Given the description of an element on the screen output the (x, y) to click on. 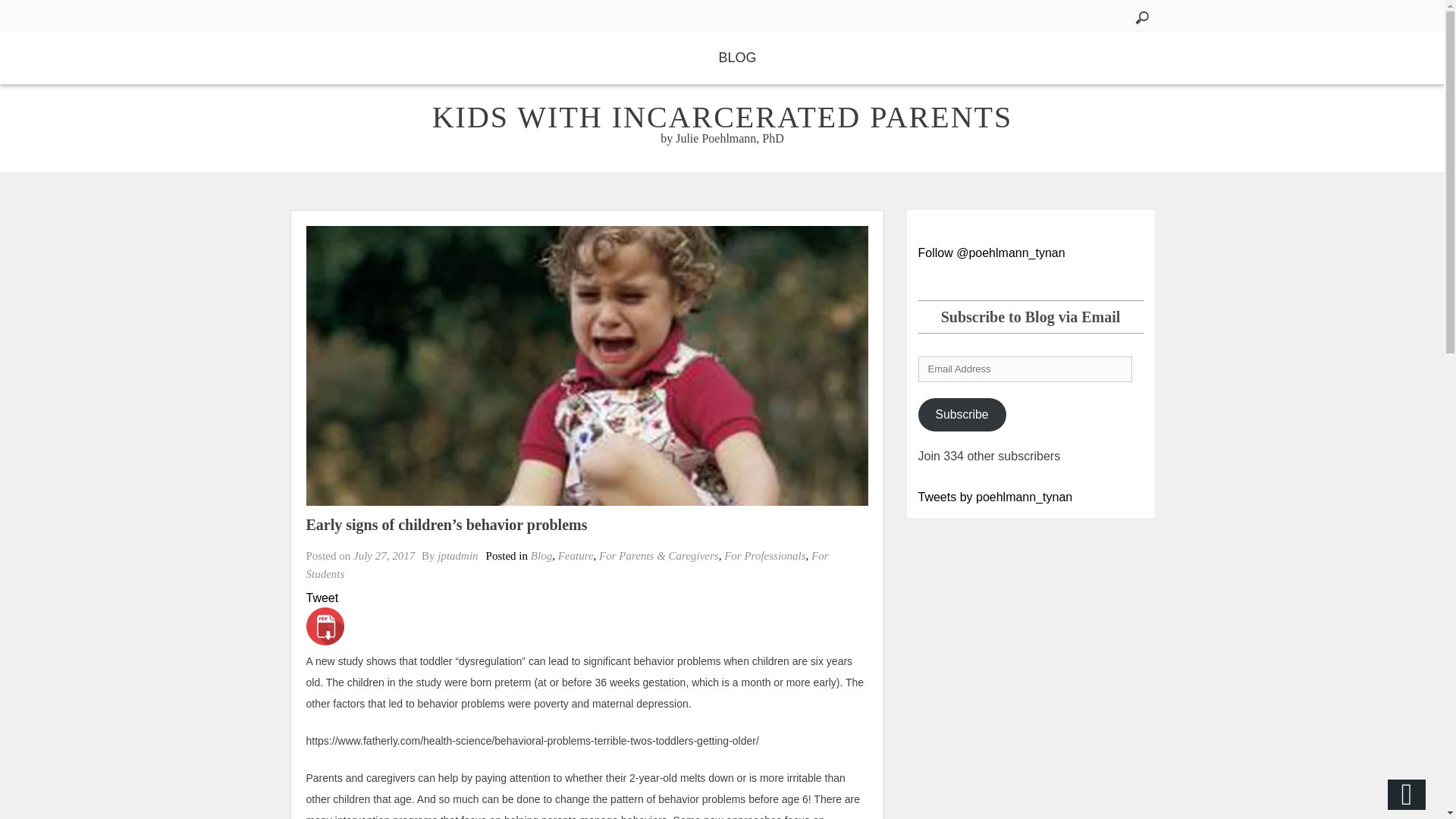
Subscribe (961, 413)
Blog (541, 555)
Feature (575, 555)
jptadmin (457, 555)
July 27, 2017 (383, 555)
search (26, 11)
For Students (566, 564)
For Professionals (764, 555)
KIDS WITH INCARCERATED PARENTS (722, 116)
Export to PDF (324, 626)
Tweet (322, 597)
Export pdf to your Email (324, 626)
